Given the description of an element on the screen output the (x, y) to click on. 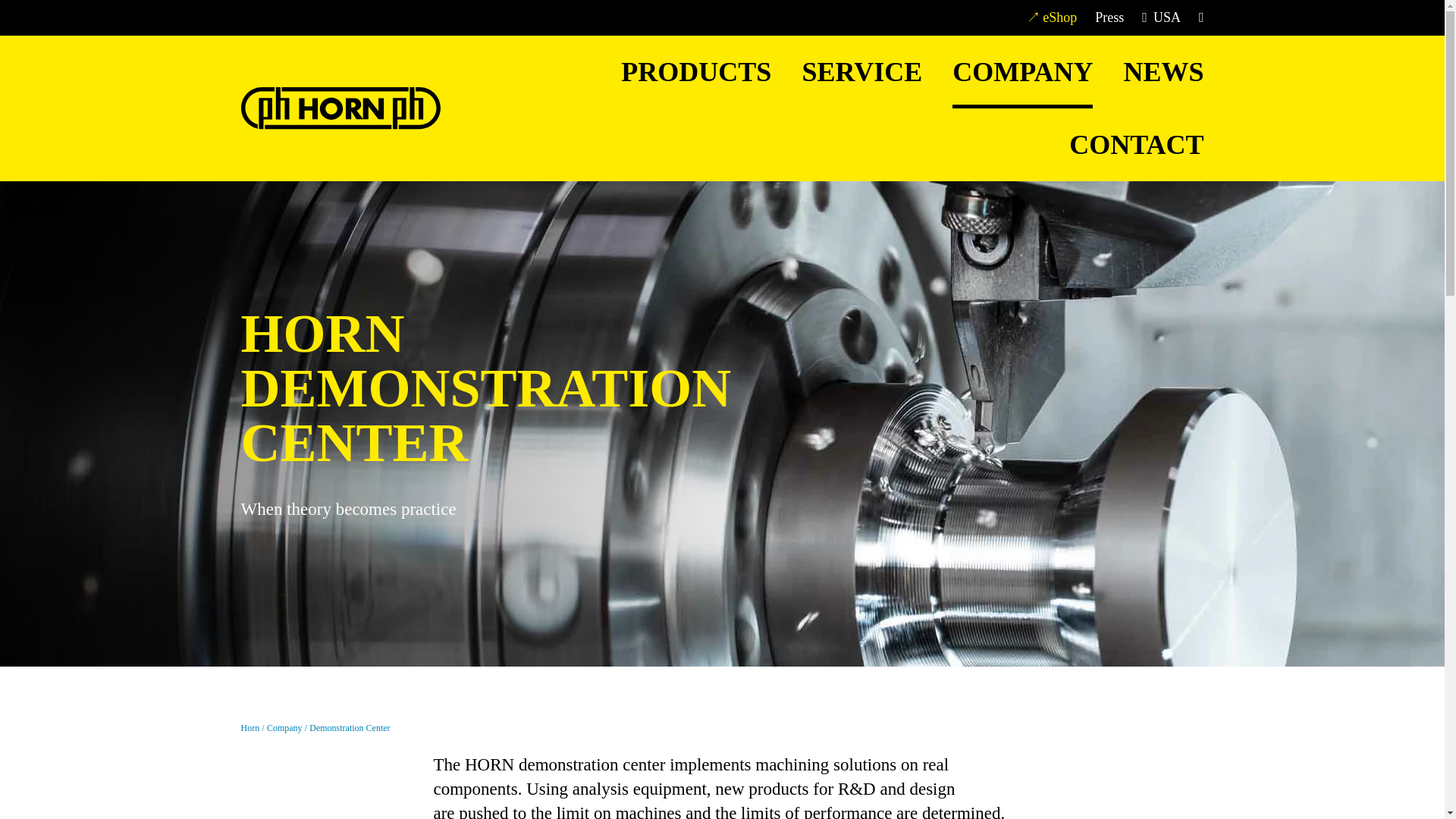
CONTACT (1136, 144)
COMPANY (1022, 72)
eShop (1051, 17)
USA (1160, 17)
Press (1109, 17)
SERVICE (861, 72)
PRODUCTS (696, 72)
USA (1160, 17)
NEWS (1163, 72)
